Given the description of an element on the screen output the (x, y) to click on. 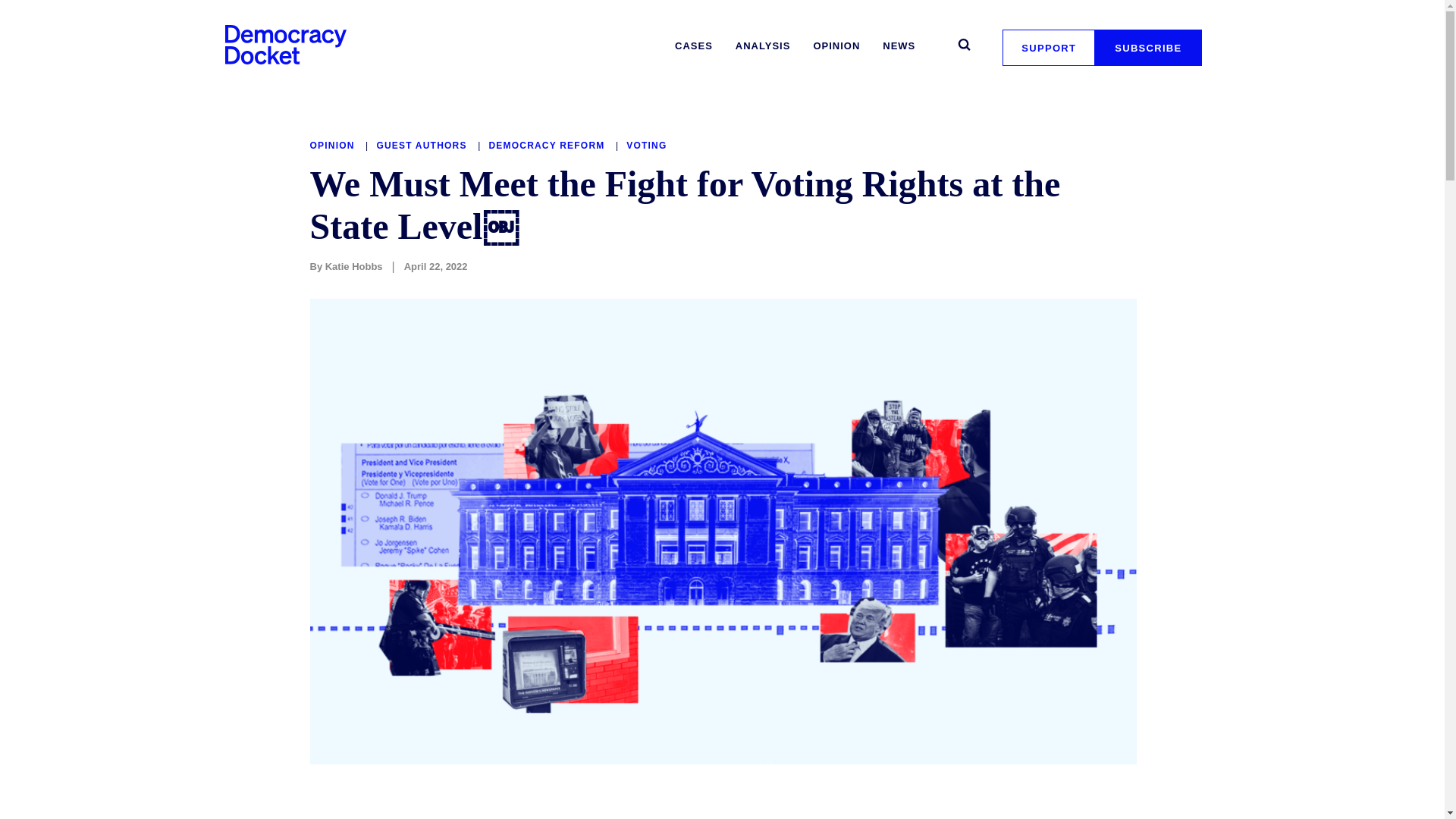
NEWS (898, 46)
VOTING (646, 145)
Democracy Docket (285, 44)
SUPPORT (1048, 47)
CASES (693, 46)
Katie Hobbs (353, 266)
SEARCH (963, 44)
OPINION (333, 145)
GUEST AUTHORS (422, 145)
SUBSCRIBE (1147, 47)
DEMOCRACY REFORM (547, 145)
OPINION (836, 46)
ANALYSIS (762, 46)
